Given the description of an element on the screen output the (x, y) to click on. 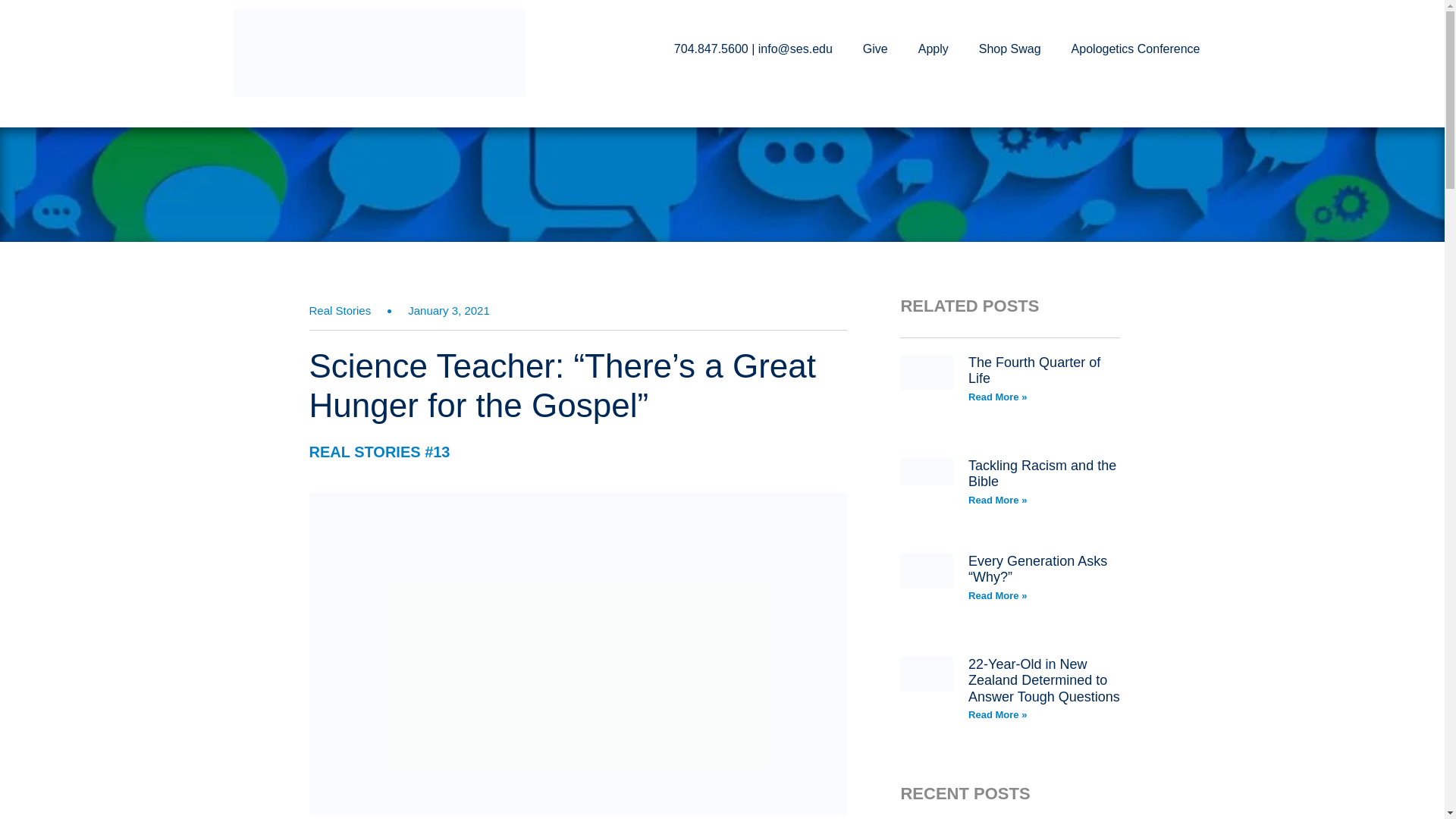
Give (874, 48)
Apologetics Conference (1136, 48)
Apply (932, 48)
Shop Swag (1010, 48)
704.847.5600 (711, 48)
